Given the description of an element on the screen output the (x, y) to click on. 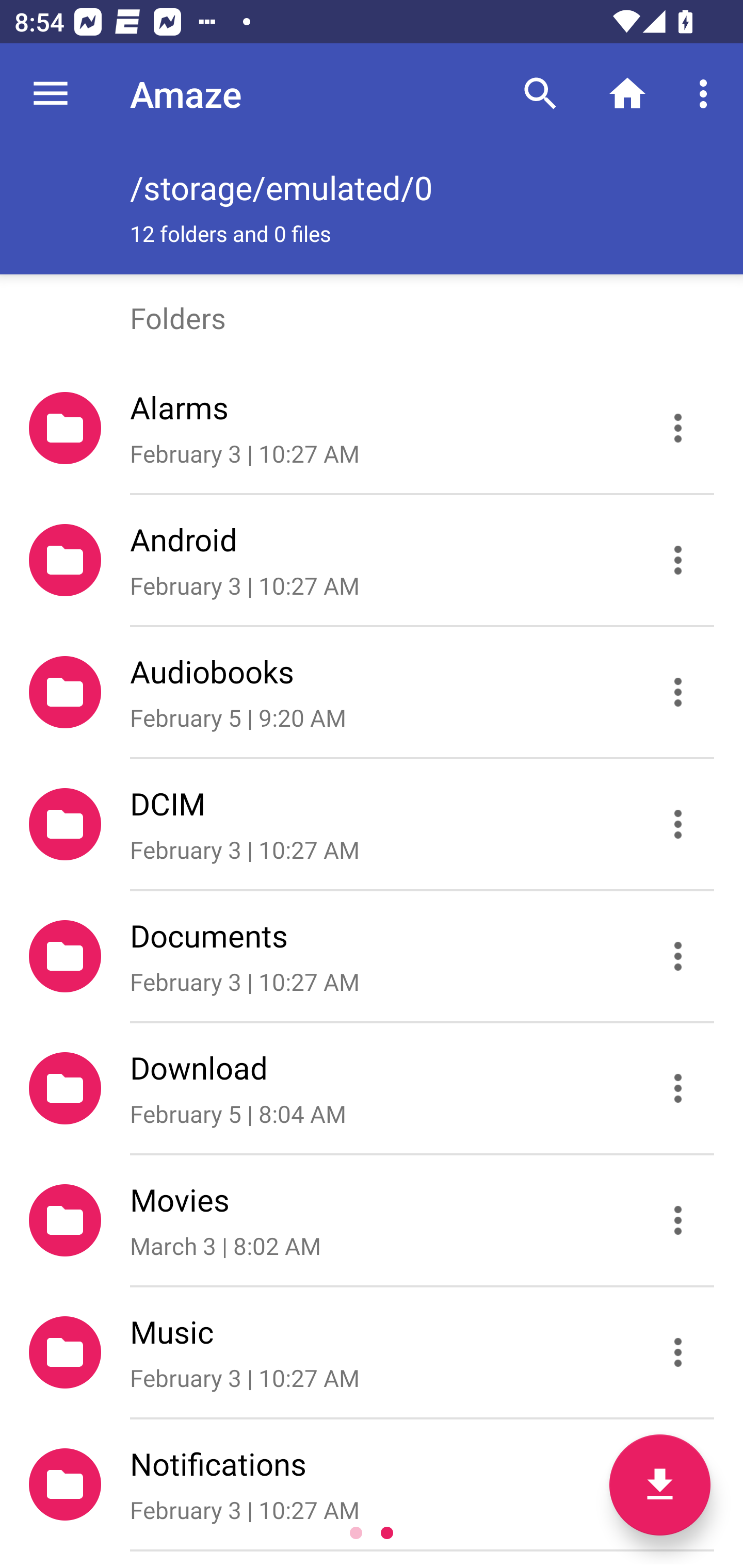
Navigate up (50, 93)
Search (540, 93)
Home (626, 93)
More options (706, 93)
Alarms February 3 | 10:27 AM (371, 427)
Android February 3 | 10:27 AM (371, 560)
Audiobooks February 5 | 9:20 AM (371, 692)
DCIM February 3 | 10:27 AM (371, 823)
Documents February 3 | 10:27 AM (371, 955)
Download February 5 | 8:04 AM (371, 1088)
Movies March 3 | 8:02 AM (371, 1220)
Music February 3 | 10:27 AM (371, 1352)
Notifications February 3 | 10:27 AM (371, 1484)
